Given the description of an element on the screen output the (x, y) to click on. 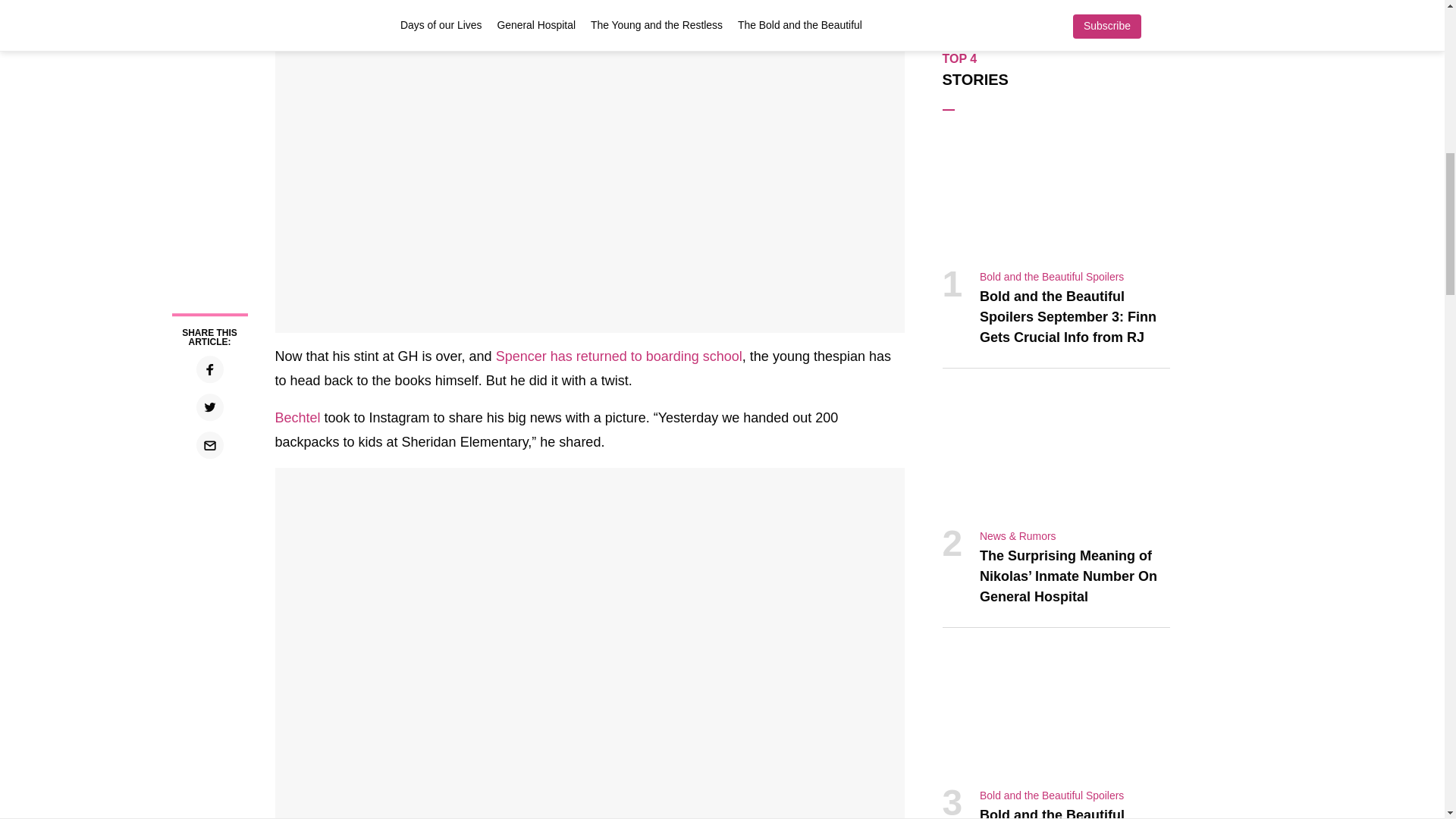
Bold and the Beautiful Spoilers (1051, 276)
Bechtel (297, 417)
Spencer has returned to boarding school (619, 355)
